Given the description of an element on the screen output the (x, y) to click on. 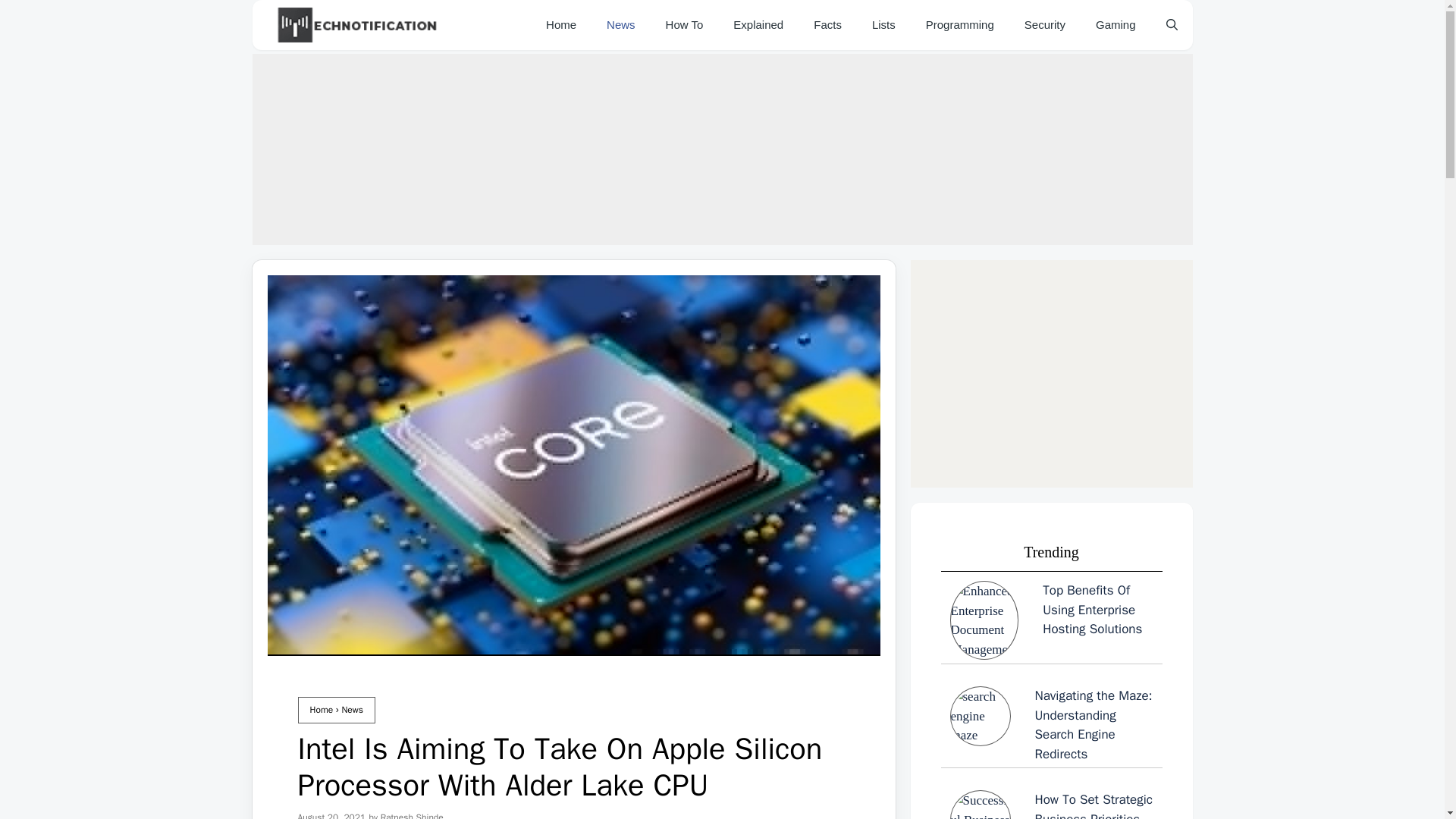
Ratnesh Shinde (412, 815)
Gaming (1115, 24)
Facts (827, 24)
How To (684, 24)
Navigating the Maze: Understanding Search Engine Redirects (1051, 724)
Technotification (353, 24)
Top Benefits Of Using Enterprise Hosting Solutions (1051, 620)
View all posts by Ratnesh Shinde (412, 815)
Security (1044, 24)
Home (320, 709)
